Given the description of an element on the screen output the (x, y) to click on. 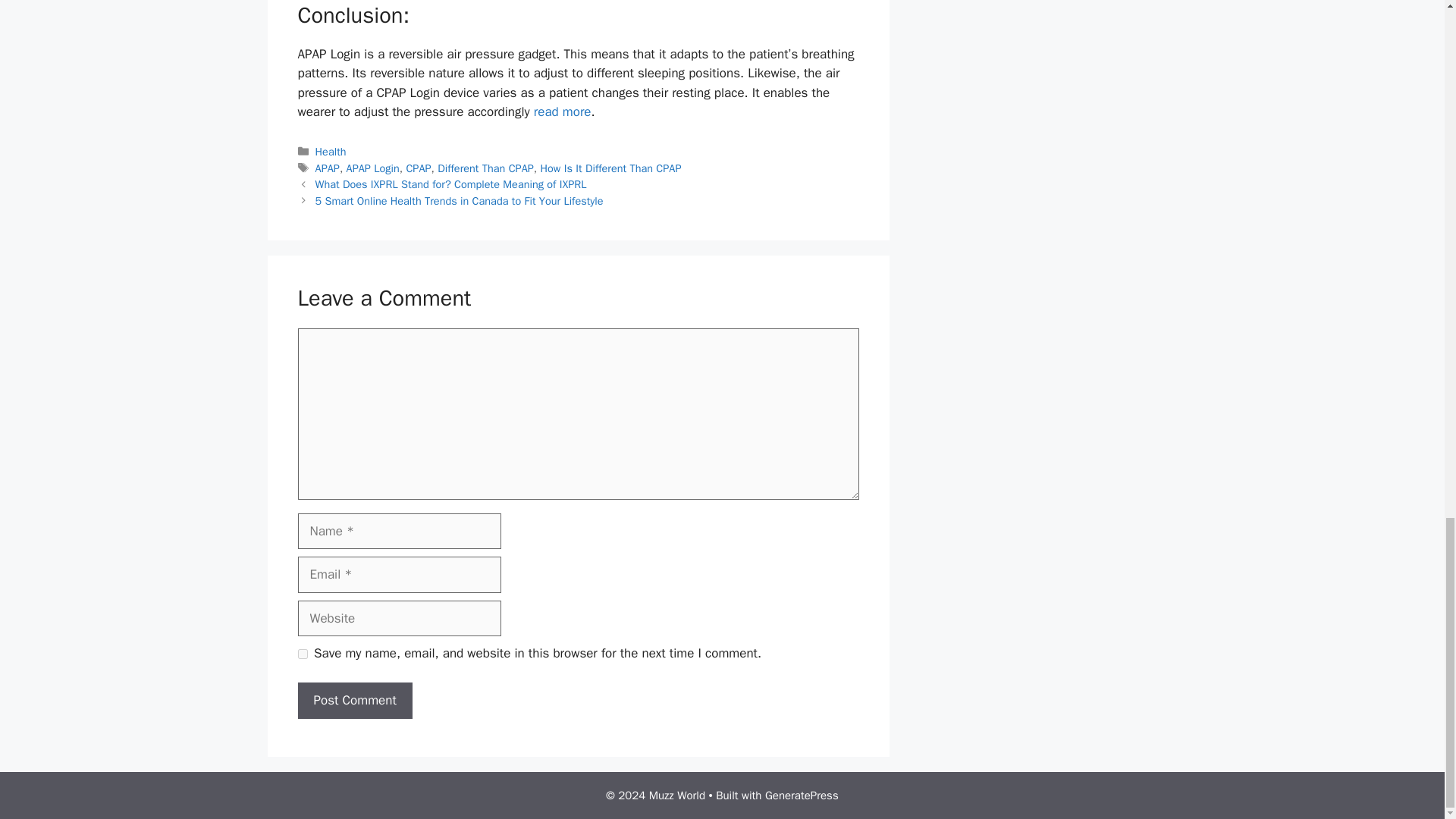
GeneratePress (801, 795)
APAP (327, 168)
Post Comment (354, 700)
CPAP (418, 168)
What Does IXPRL Stand for? Complete Meaning of IXPRL (450, 183)
Different Than CPAP (486, 168)
read more (562, 111)
Post Comment (354, 700)
How Is It Different Than CPAP (610, 168)
APAP Login (372, 168)
5 Smart Online Health Trends in Canada to Fit Your Lifestyle (459, 201)
yes (302, 654)
Health (330, 151)
